Given the description of an element on the screen output the (x, y) to click on. 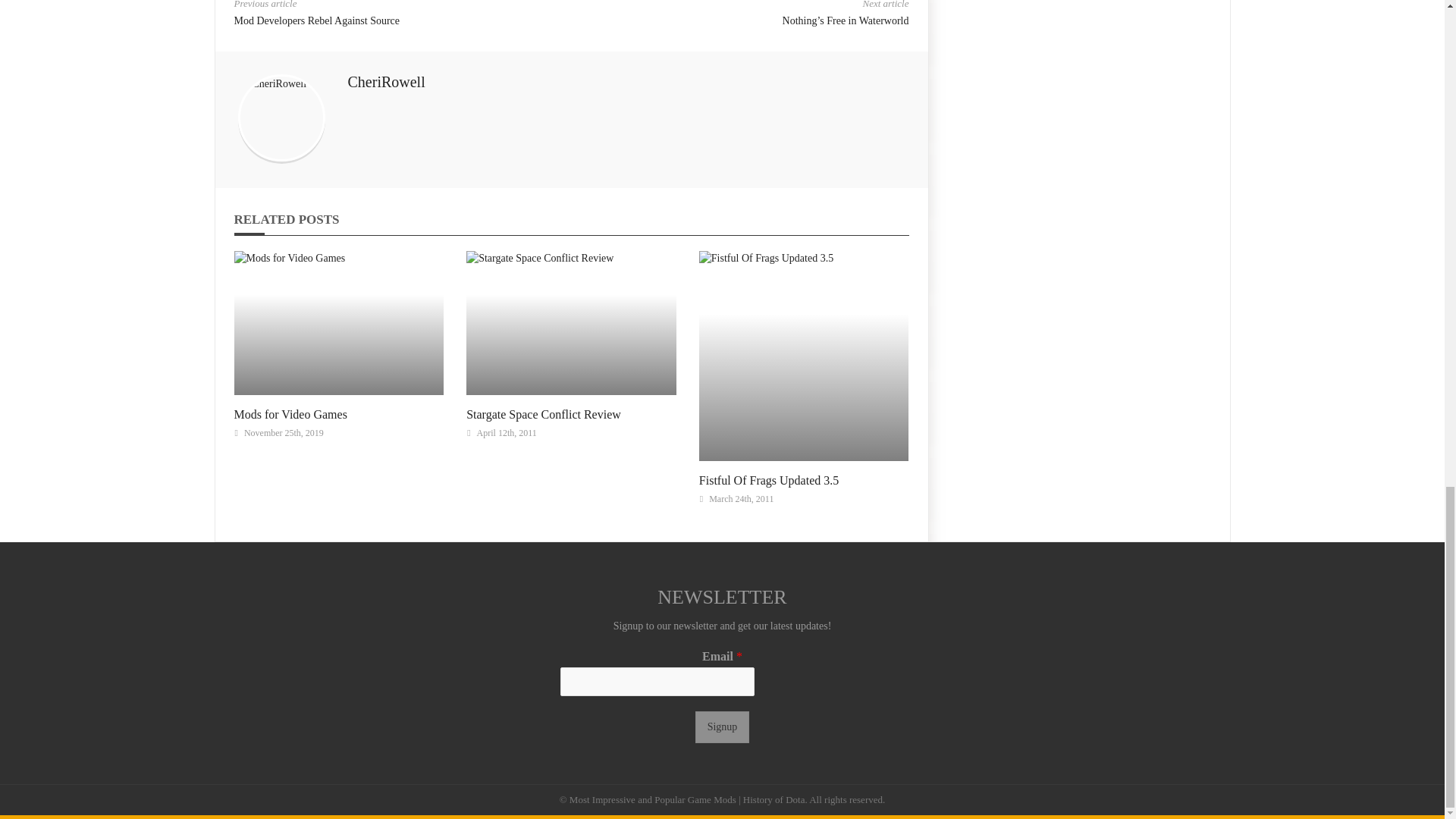
Posts by CheriRowell (386, 81)
Mod Developers Rebel Against Source (315, 20)
